Given the description of an element on the screen output the (x, y) to click on. 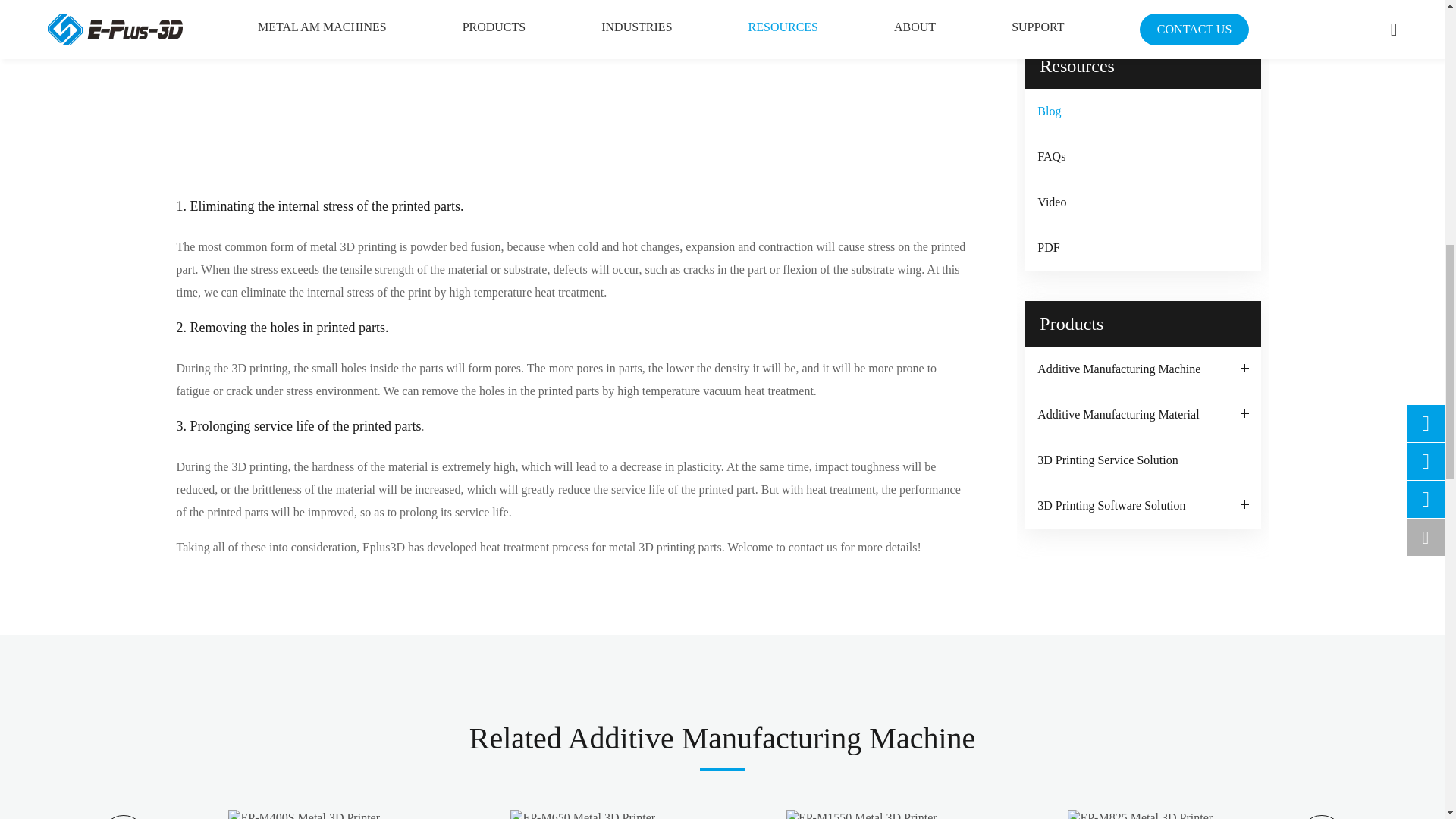
EP-M650 Metal 3D Printer (583, 814)
EP-M400S Metal 3D Printer (304, 814)
Heat-treatment Influence on Metal 3D Printing Products (571, 91)
EP-M825 Metal 3D Printer (1139, 814)
EP-M1550 Metal 3D Printer (861, 814)
